Given the description of an element on the screen output the (x, y) to click on. 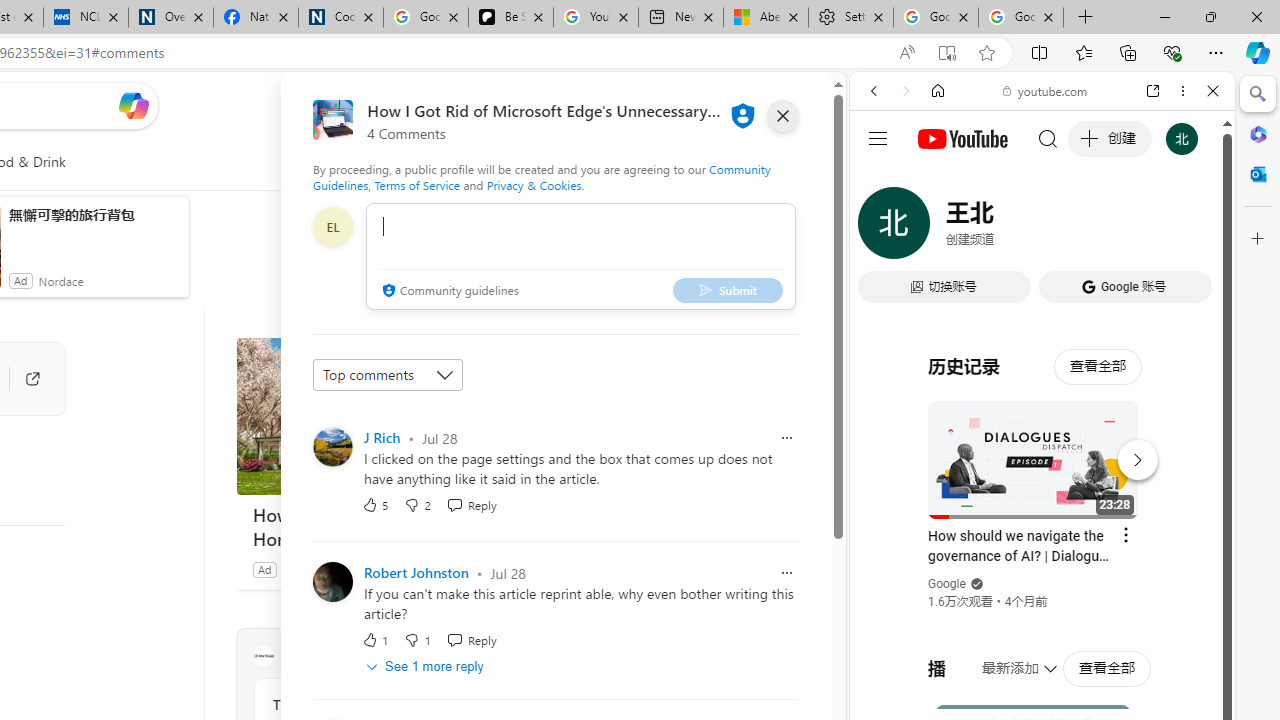
This site scope (936, 180)
Trailer #2 [HD] (1042, 592)
Profile Picture (333, 581)
Music (1042, 543)
NCL Adult Asthma Inhaler Choice Guideline (85, 17)
Submit (728, 290)
New tab (680, 17)
See 1 more reply (425, 665)
Visit HowToGeek website (511, 655)
